Given the description of an element on the screen output the (x, y) to click on. 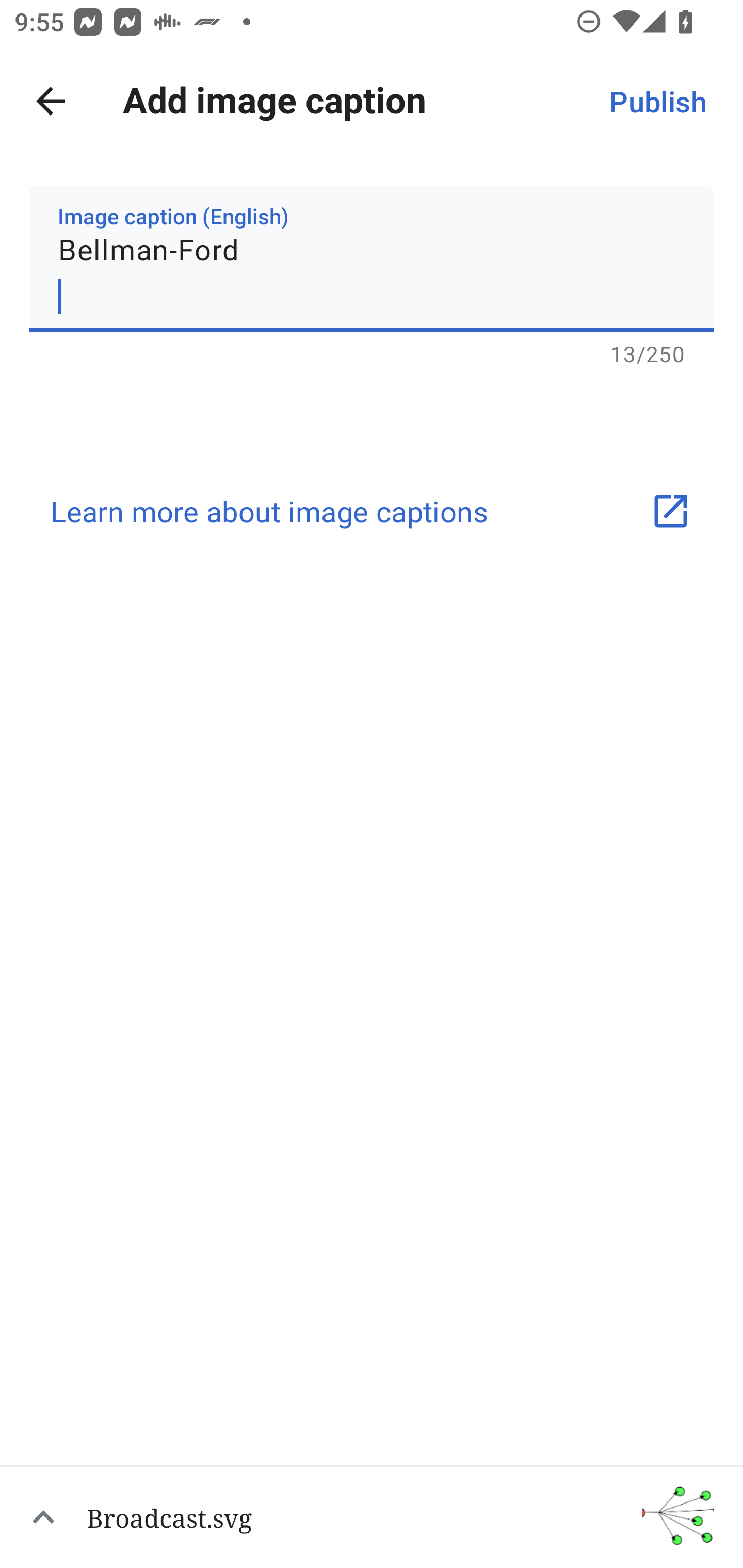
Cancel (50, 101)
Publish (657, 101)
Bellman-Ford
 (371, 259)
Learn more about image captions (371, 511)
Broadcast.svg (371, 1516)
